Given the description of an element on the screen output the (x, y) to click on. 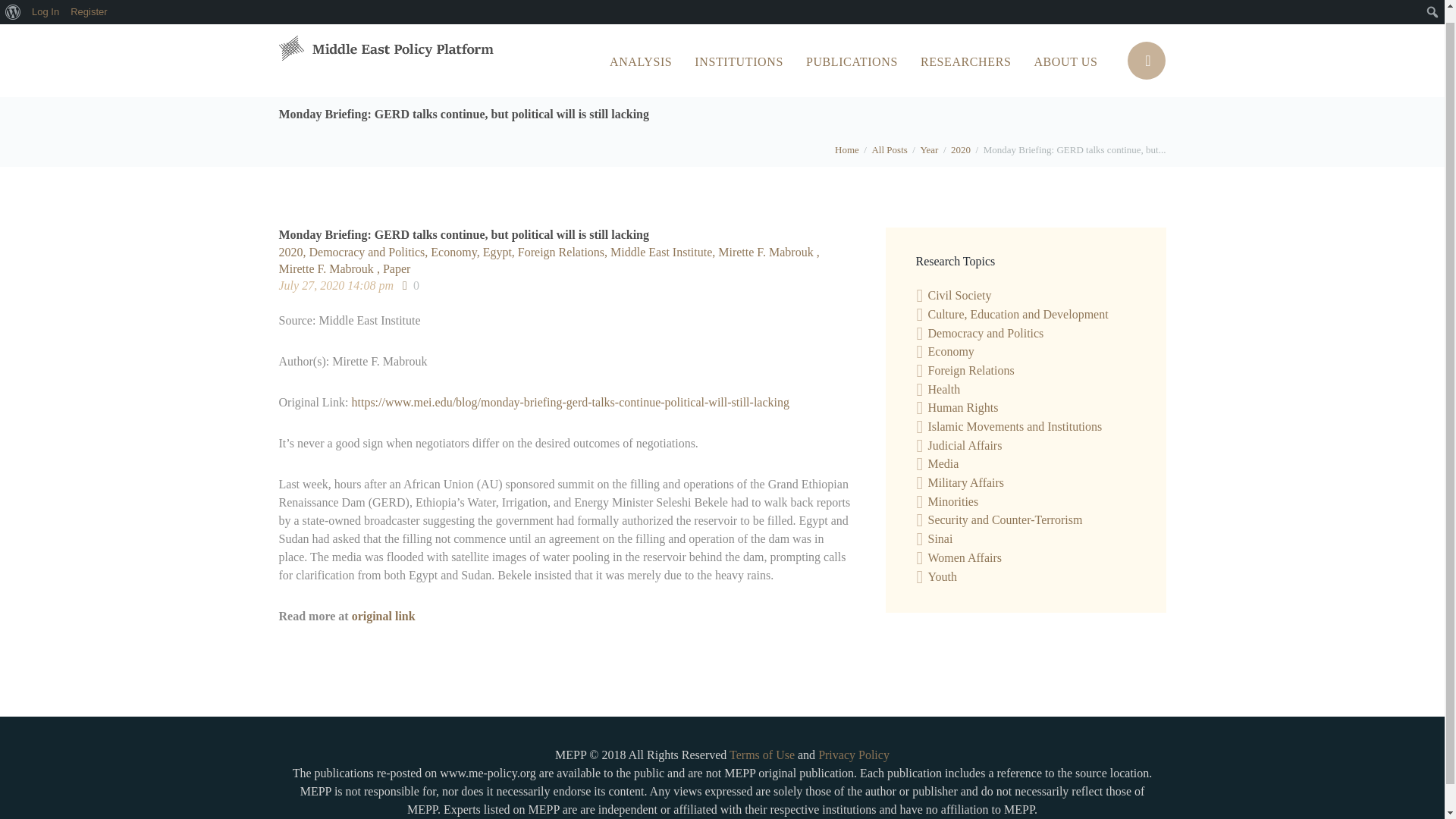
Open search (1146, 60)
Year (928, 149)
ABOUT US (1065, 62)
Democracy and Politics (369, 251)
Foreign Relations (564, 251)
Civil Society (959, 295)
2020 (960, 149)
Islamic Movements and Institutions (1015, 426)
Paper (396, 268)
0 (411, 285)
Middle East Institute (663, 251)
ANALYSIS (640, 62)
Mirette F. Mabrouk  (330, 268)
Like (411, 285)
Home (846, 149)
